Given the description of an element on the screen output the (x, y) to click on. 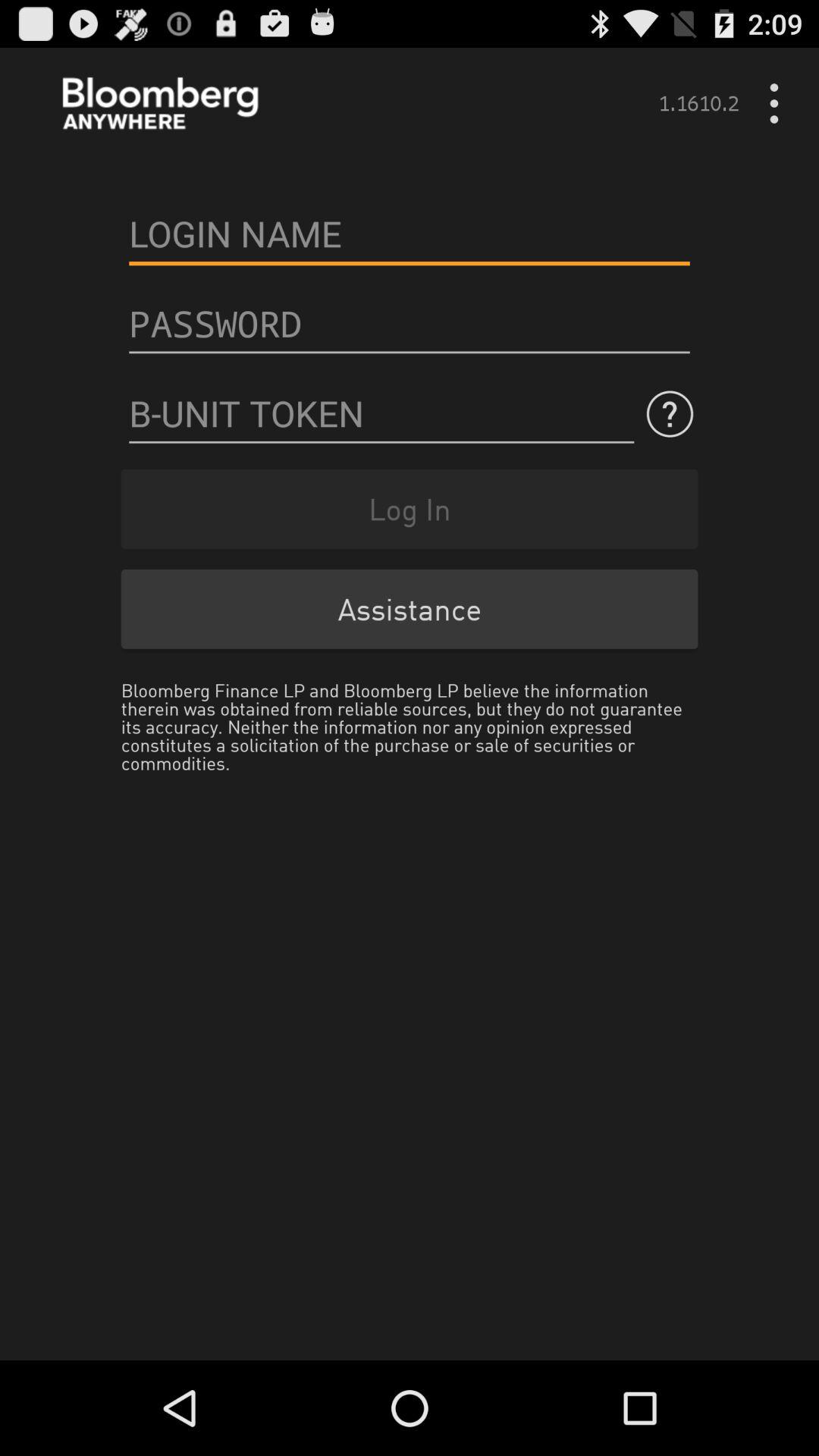
select the icon next to 1.1610.2 item (779, 103)
